Given the description of an element on the screen output the (x, y) to click on. 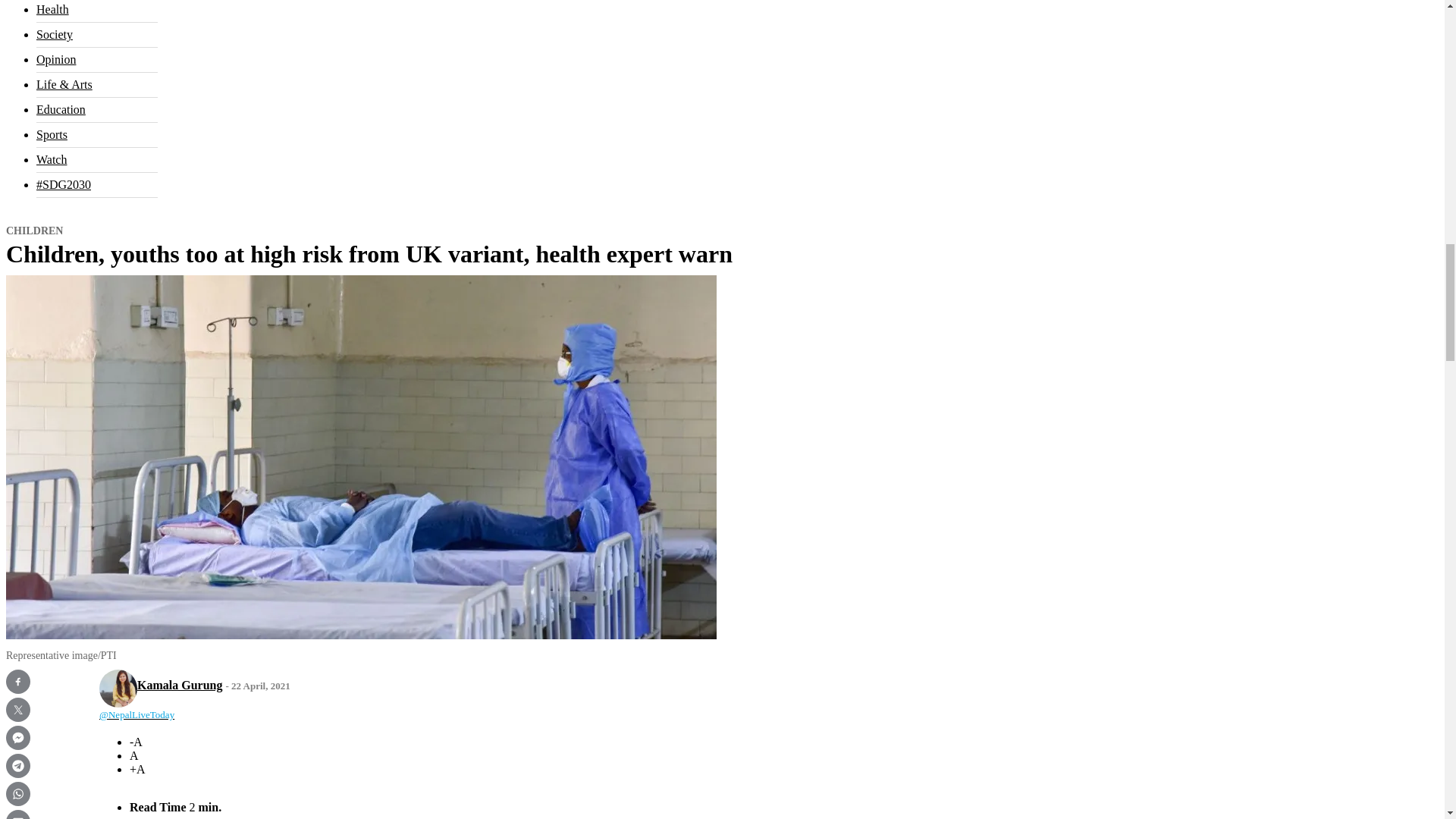
CHILDREN (33, 230)
Sports (51, 133)
Education (60, 109)
Opinion (55, 59)
Kamala Gurung (179, 684)
Society (54, 33)
Watch (51, 159)
Health (52, 9)
